Given the description of an element on the screen output the (x, y) to click on. 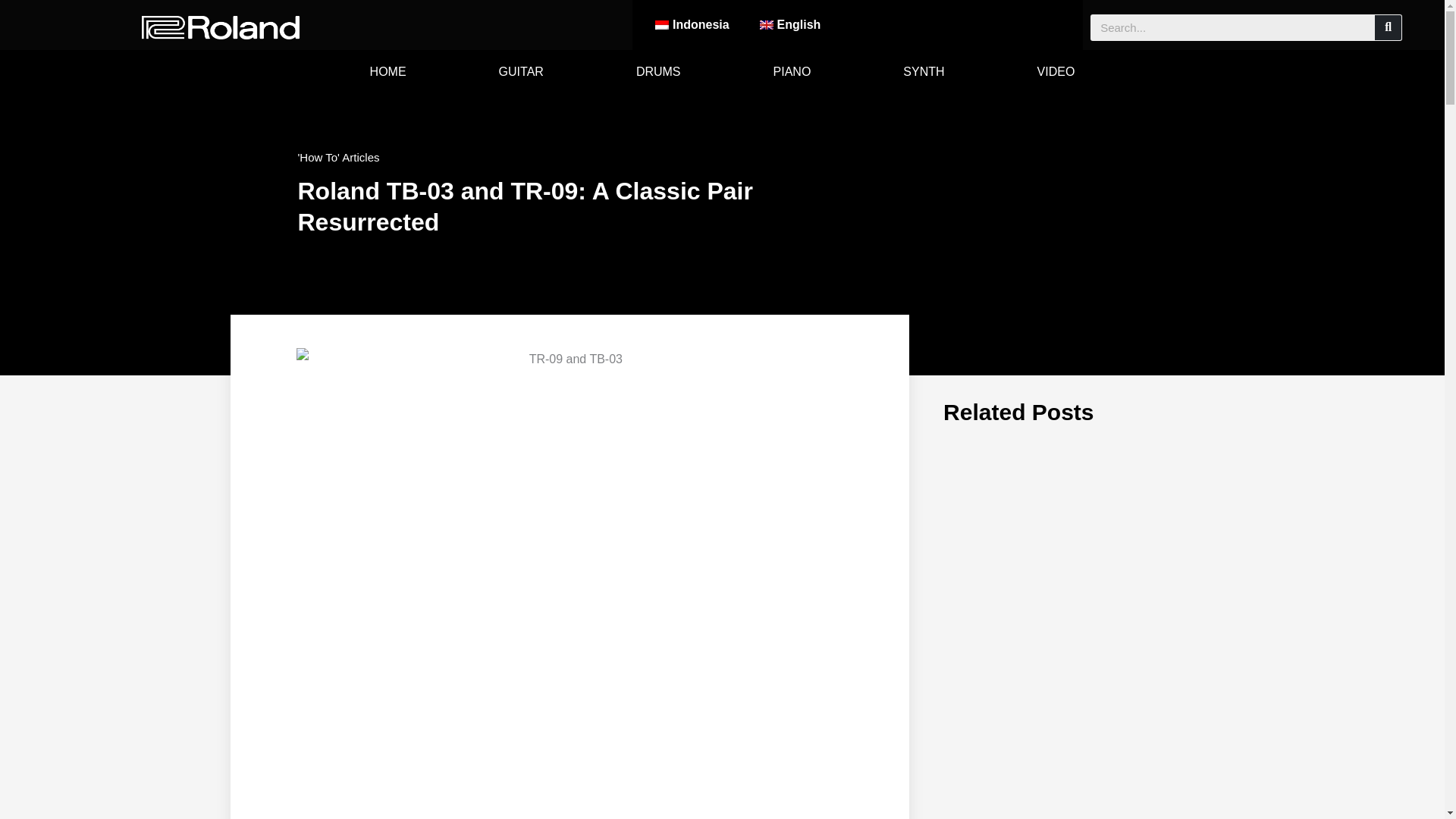
Indonesia (692, 24)
DRUMS (657, 71)
English (789, 24)
PIANO (792, 71)
HOME (387, 71)
English (789, 24)
GUITAR (520, 71)
Search (1387, 27)
Indonesia (692, 24)
